Given the description of an element on the screen output the (x, y) to click on. 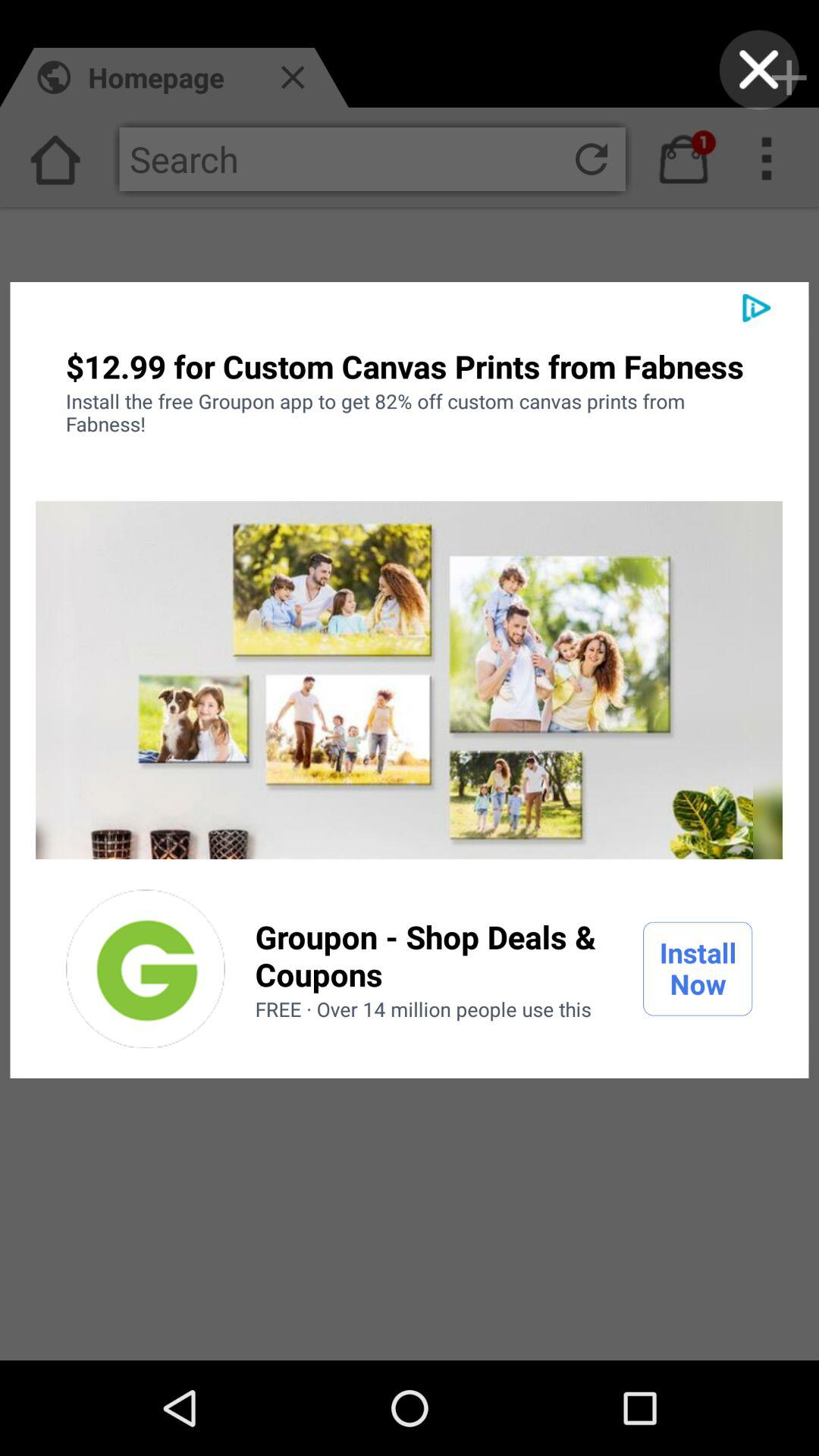
select the option (145, 968)
